Given the description of an element on the screen output the (x, y) to click on. 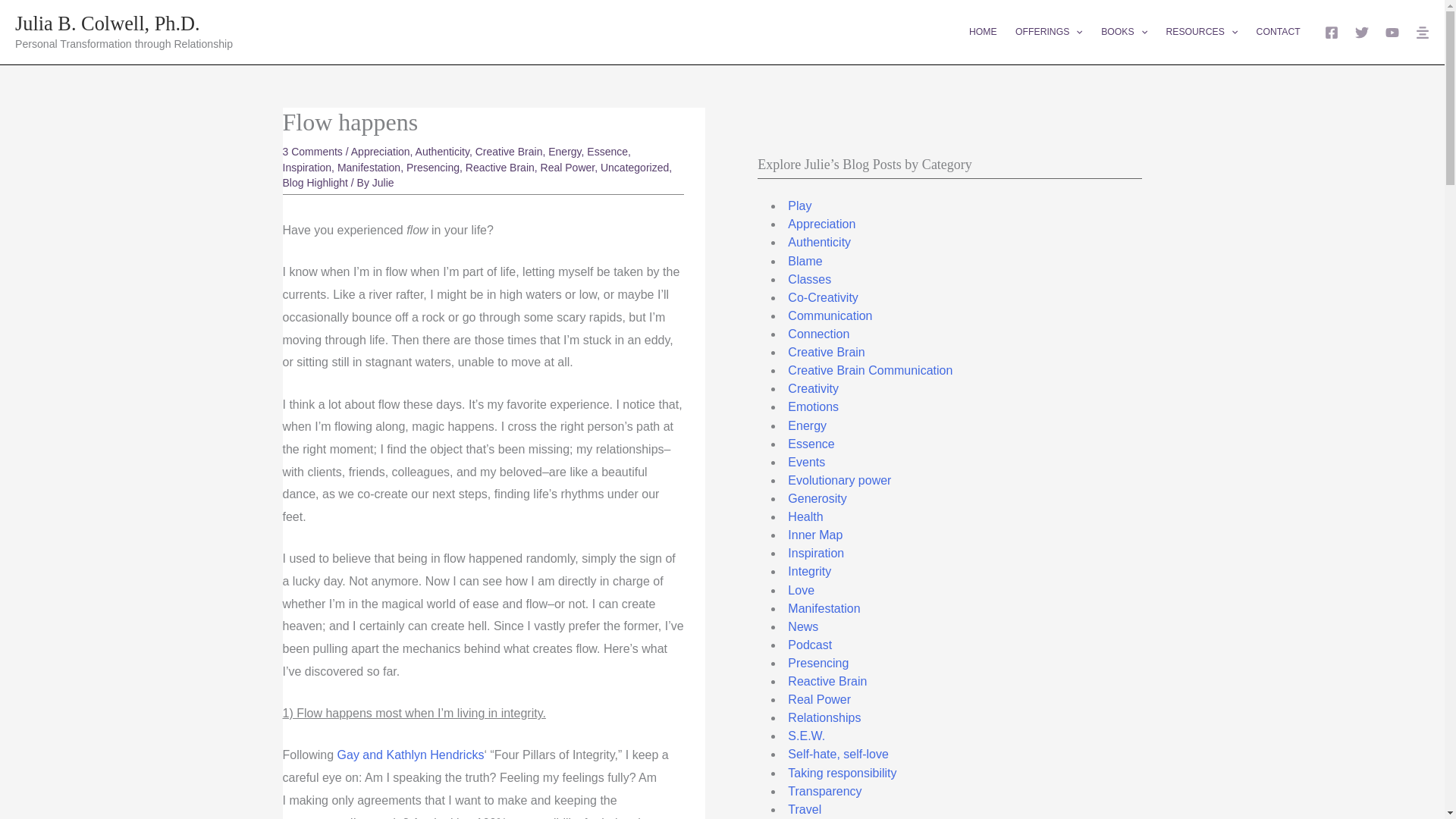
BOOKS (1124, 31)
Julia B. Colwell, Ph.D. (107, 24)
OFFERINGS (1049, 31)
View all posts by Julie (383, 182)
CONTACT (1277, 31)
RESOURCES (1201, 31)
